Given the description of an element on the screen output the (x, y) to click on. 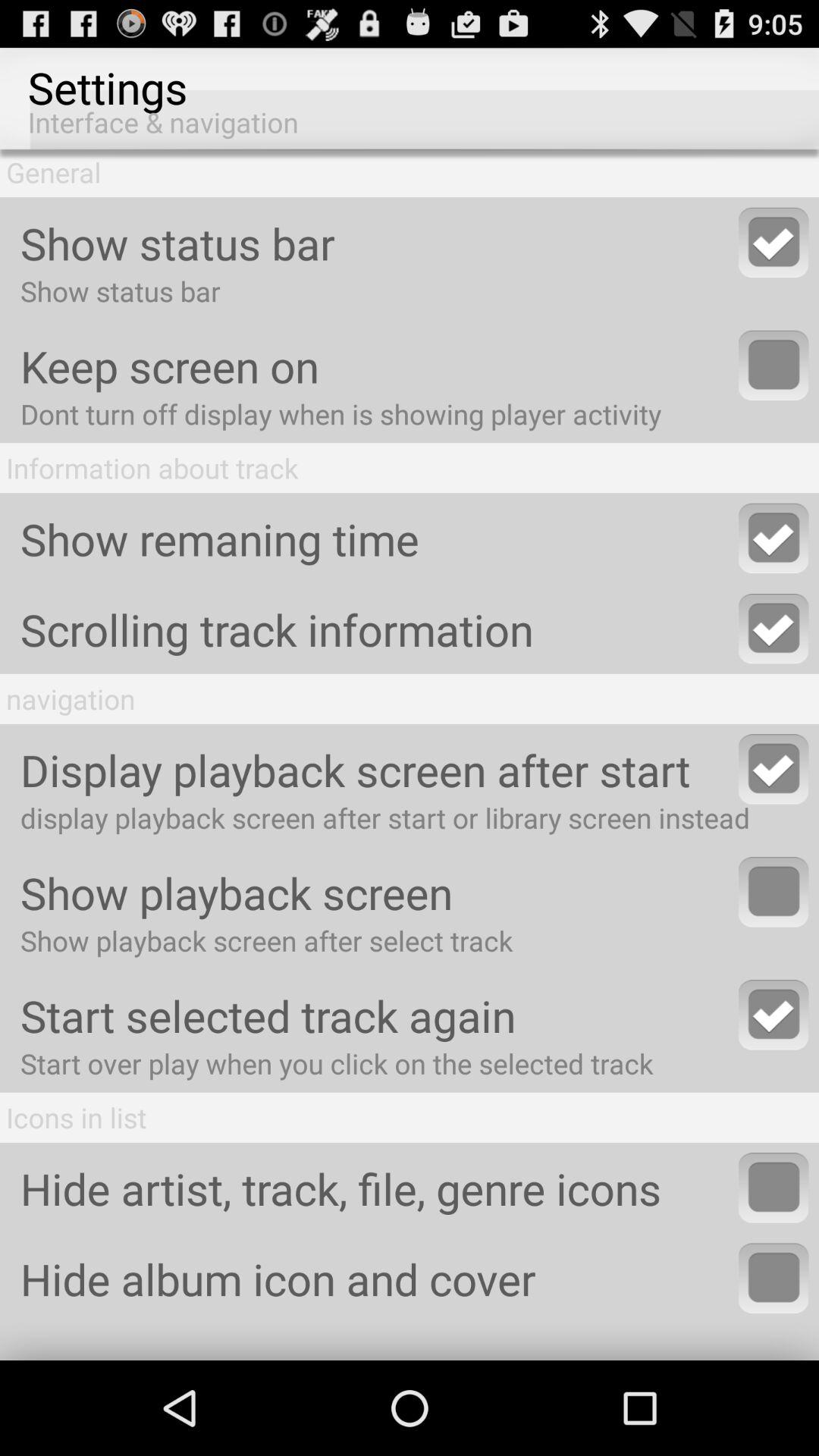
uncheck option (773, 628)
